Given the description of an element on the screen output the (x, y) to click on. 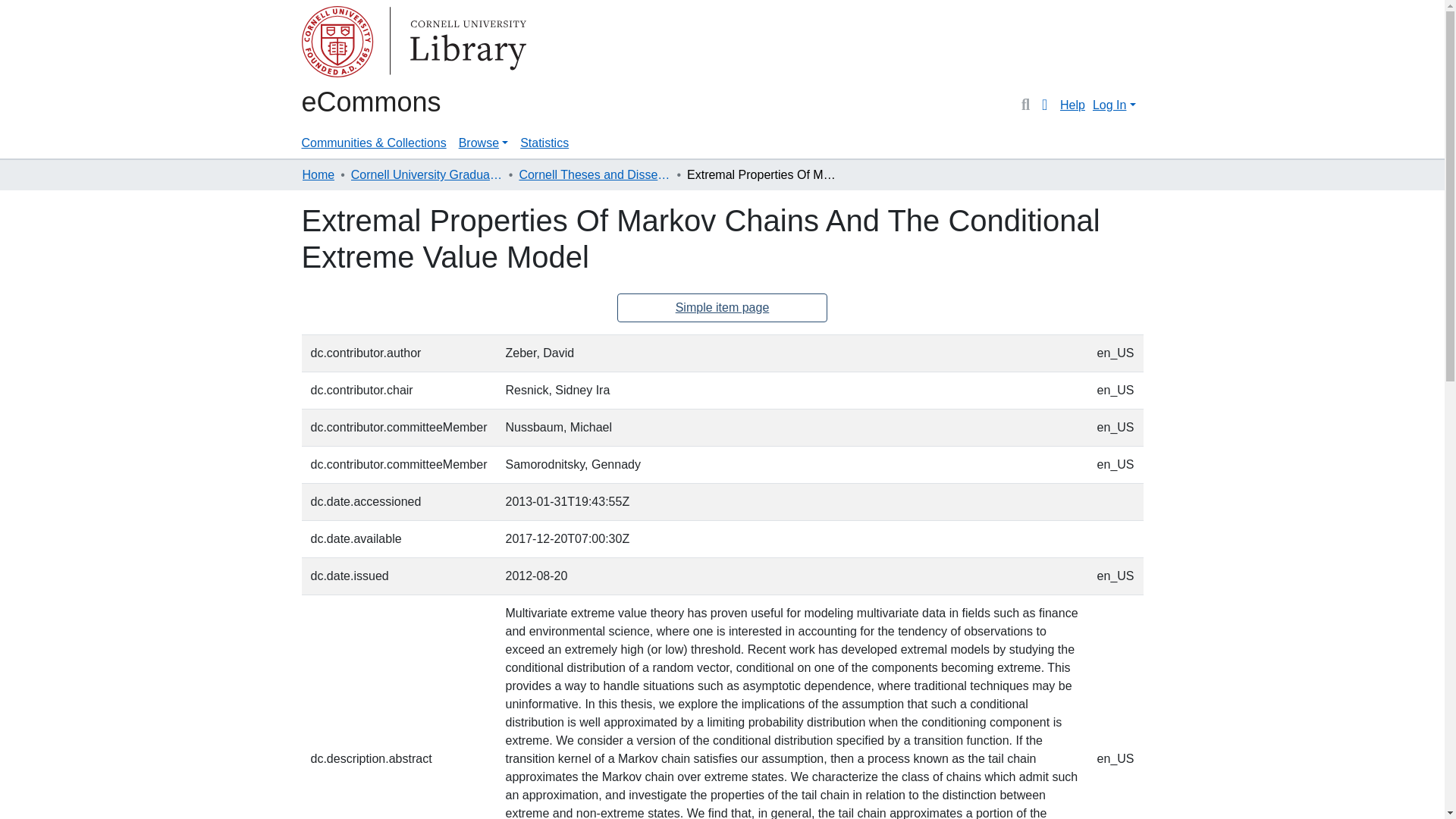
Language switch (1044, 105)
Simple item page (722, 307)
Cornell Theses and Dissertations (593, 175)
Statistics (544, 142)
Log In (1113, 104)
Home (317, 175)
eCommons (371, 101)
Library (362, 43)
Cornell University Graduate School (426, 175)
Statistics (544, 142)
